Given the description of an element on the screen output the (x, y) to click on. 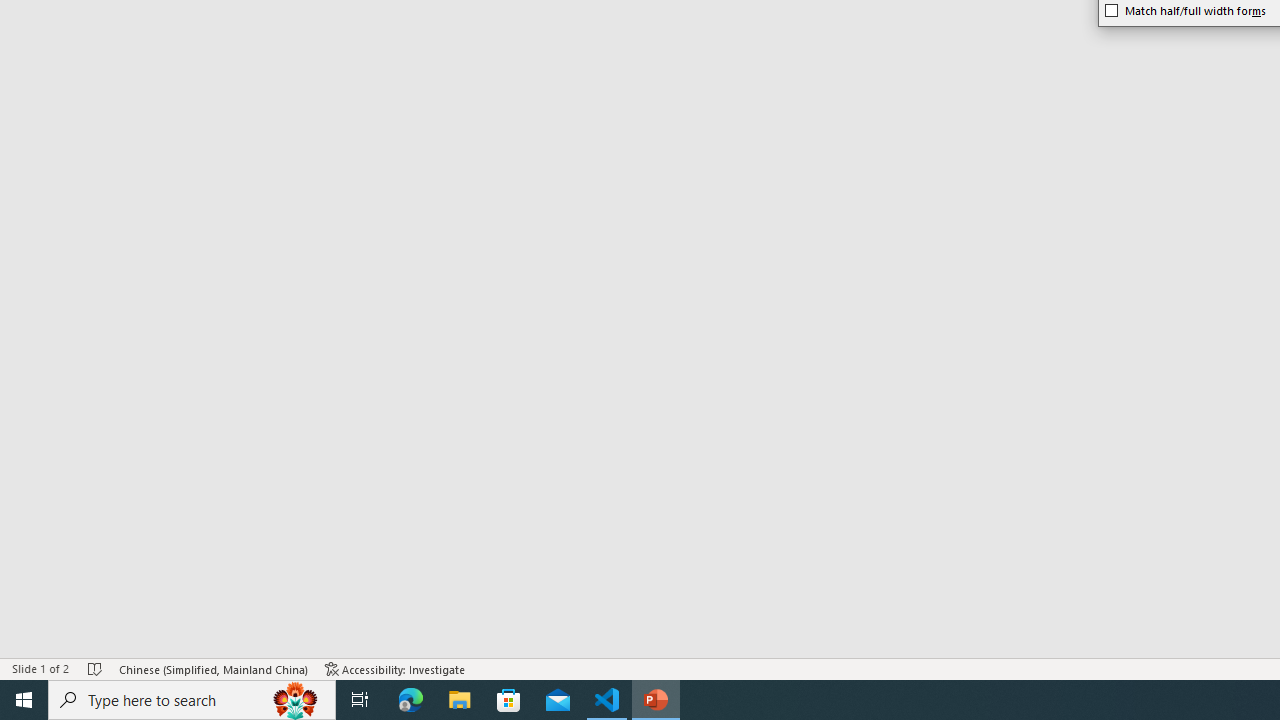
Match half/full width forms (1186, 10)
